Given the description of an element on the screen output the (x, y) to click on. 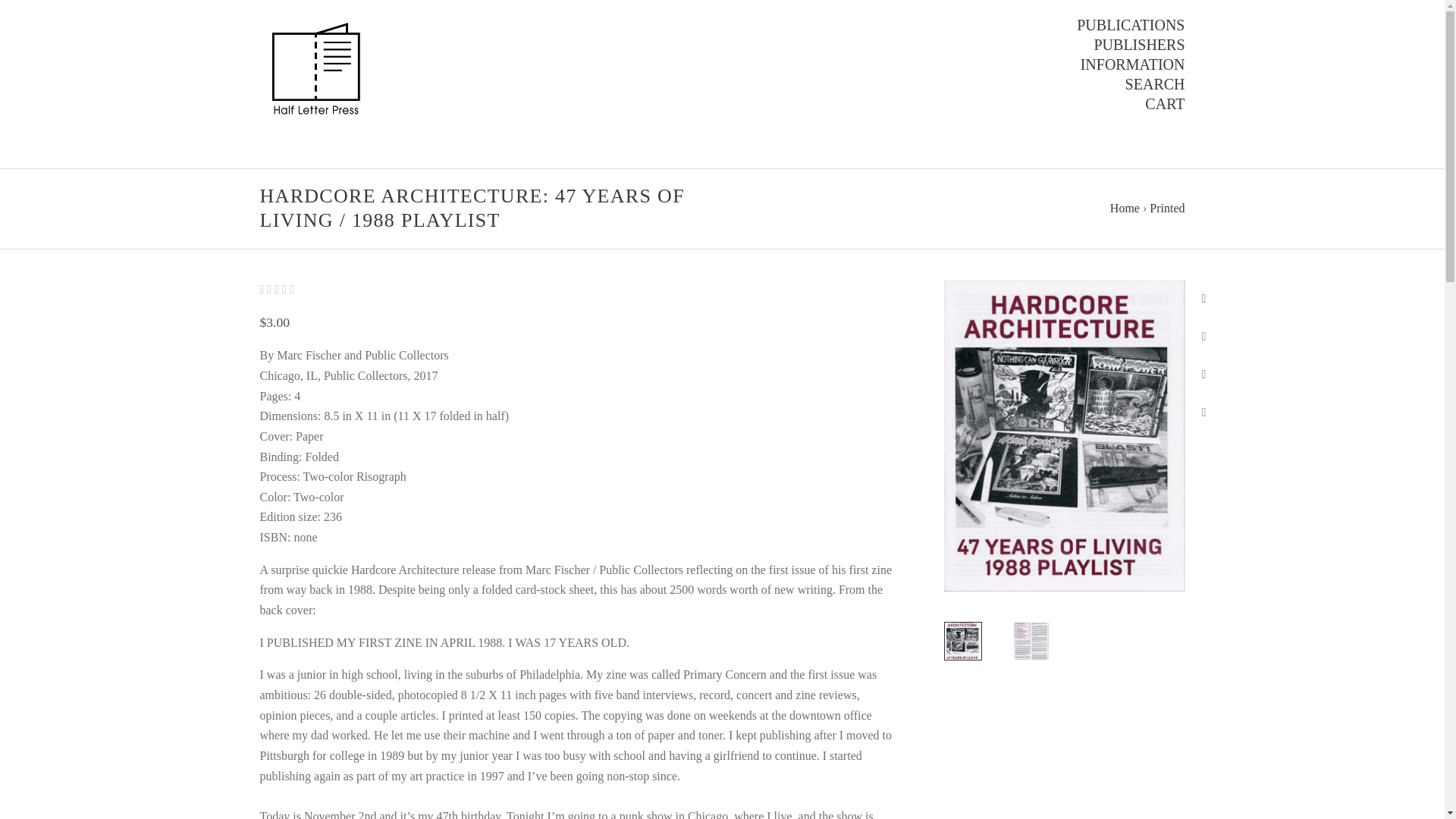
CART (1164, 103)
PUBLISHERS (1139, 44)
PUBLICATIONS (1131, 25)
Home (1124, 207)
INFORMATION (1132, 64)
Printed (1167, 207)
SEARCH (1155, 84)
